Given the description of an element on the screen output the (x, y) to click on. 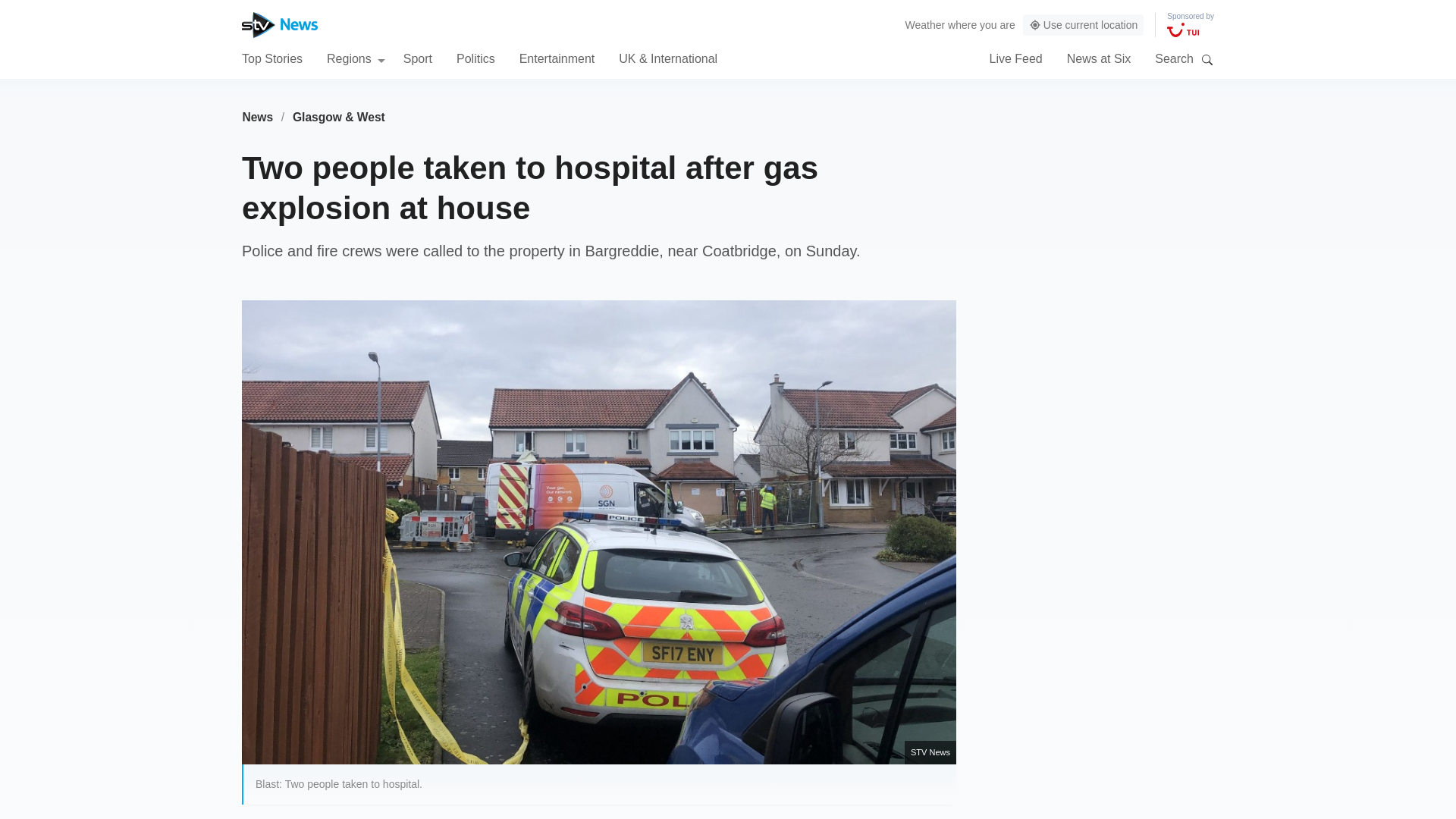
Politics (476, 57)
Entertainment (557, 57)
Search (1206, 59)
Weather (924, 24)
Live Feed (1015, 57)
News at Six (1099, 57)
Regions (355, 57)
Use current location (1083, 25)
Top Stories (271, 57)
News (257, 116)
